Given the description of an element on the screen output the (x, y) to click on. 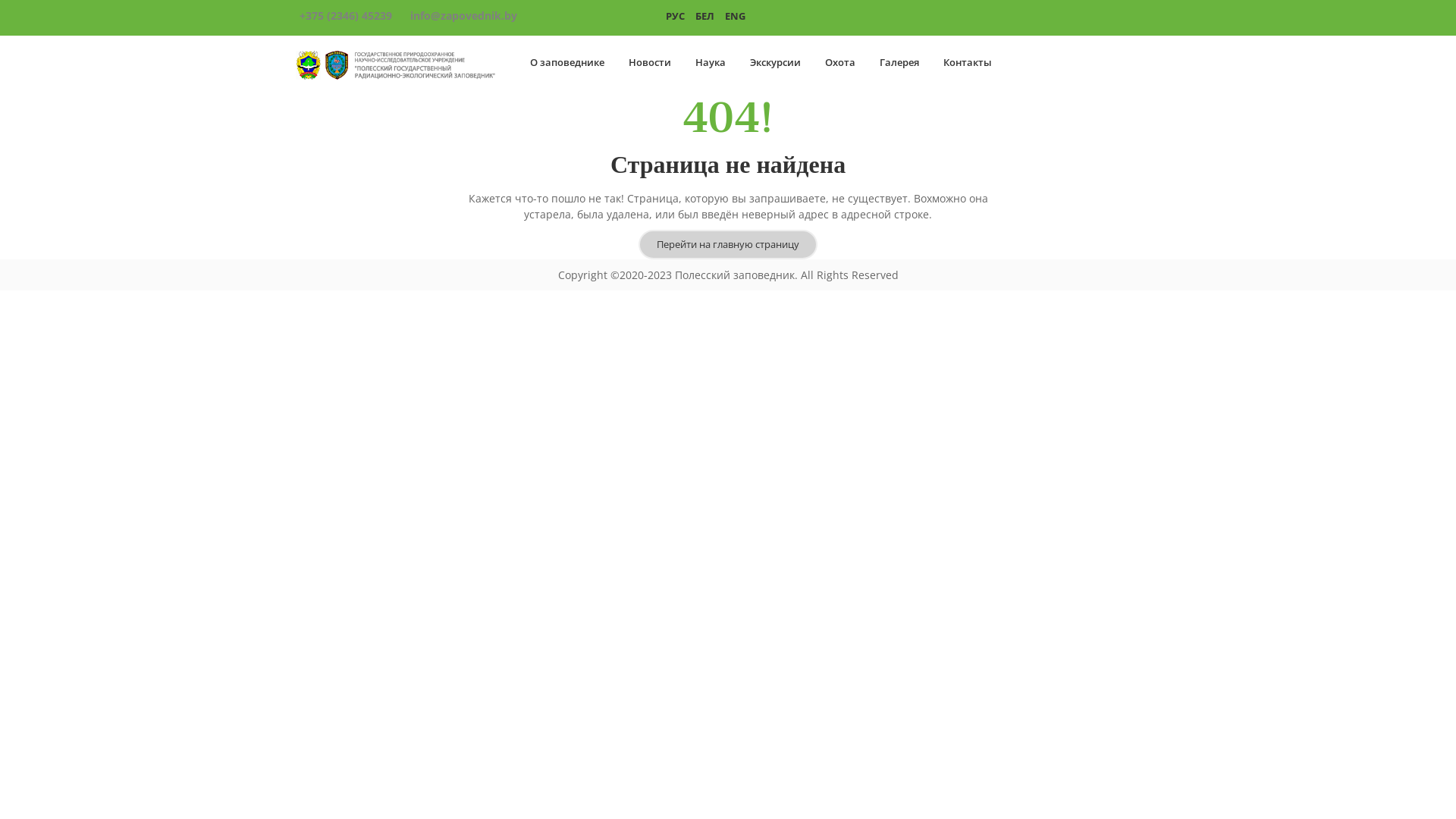
ENG Element type: text (734, 15)
RSS Element type: hover (1018, 16)
Telegram Element type: hover (1143, 16)
+375 (2346) 45239 Element type: text (345, 15)
info@zapovednik.by Element type: text (463, 15)
Instagram Element type: hover (1112, 16)
OK.RU Element type: hover (1049, 16)
VK.COM Element type: hover (1081, 16)
